Given the description of an element on the screen output the (x, y) to click on. 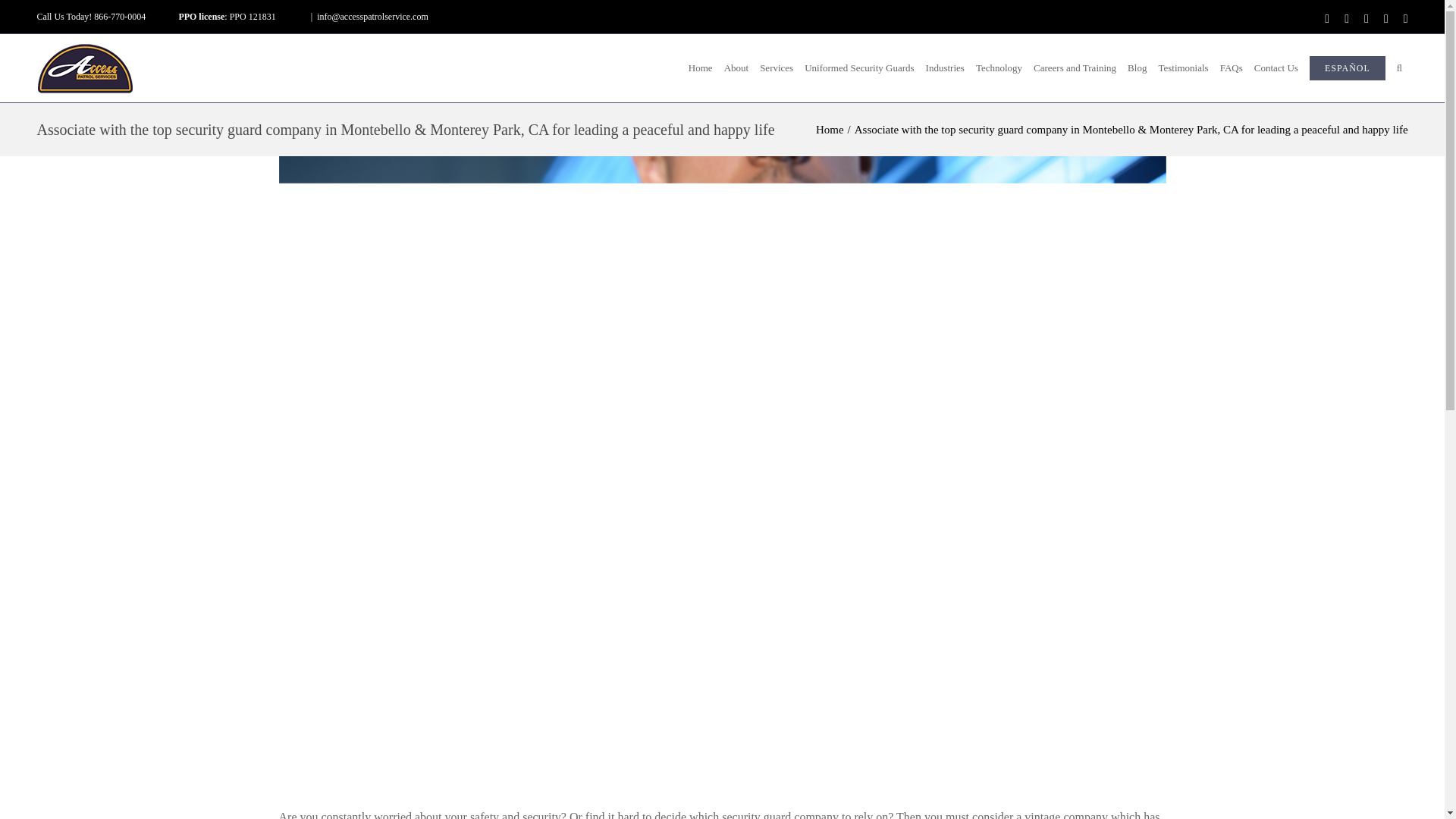
LinkedIn (1386, 18)
About (735, 68)
Testimonials (1183, 68)
Uniformed Security Guards (859, 68)
Search (1398, 68)
Call Us Today! 866-770-0004 (90, 16)
Careers and Training (1074, 68)
Facebook (1326, 18)
Blog (1137, 68)
Home (699, 68)
YouTube (1405, 18)
Services (776, 68)
Industries (944, 68)
Contact Us (1275, 68)
